Given the description of an element on the screen output the (x, y) to click on. 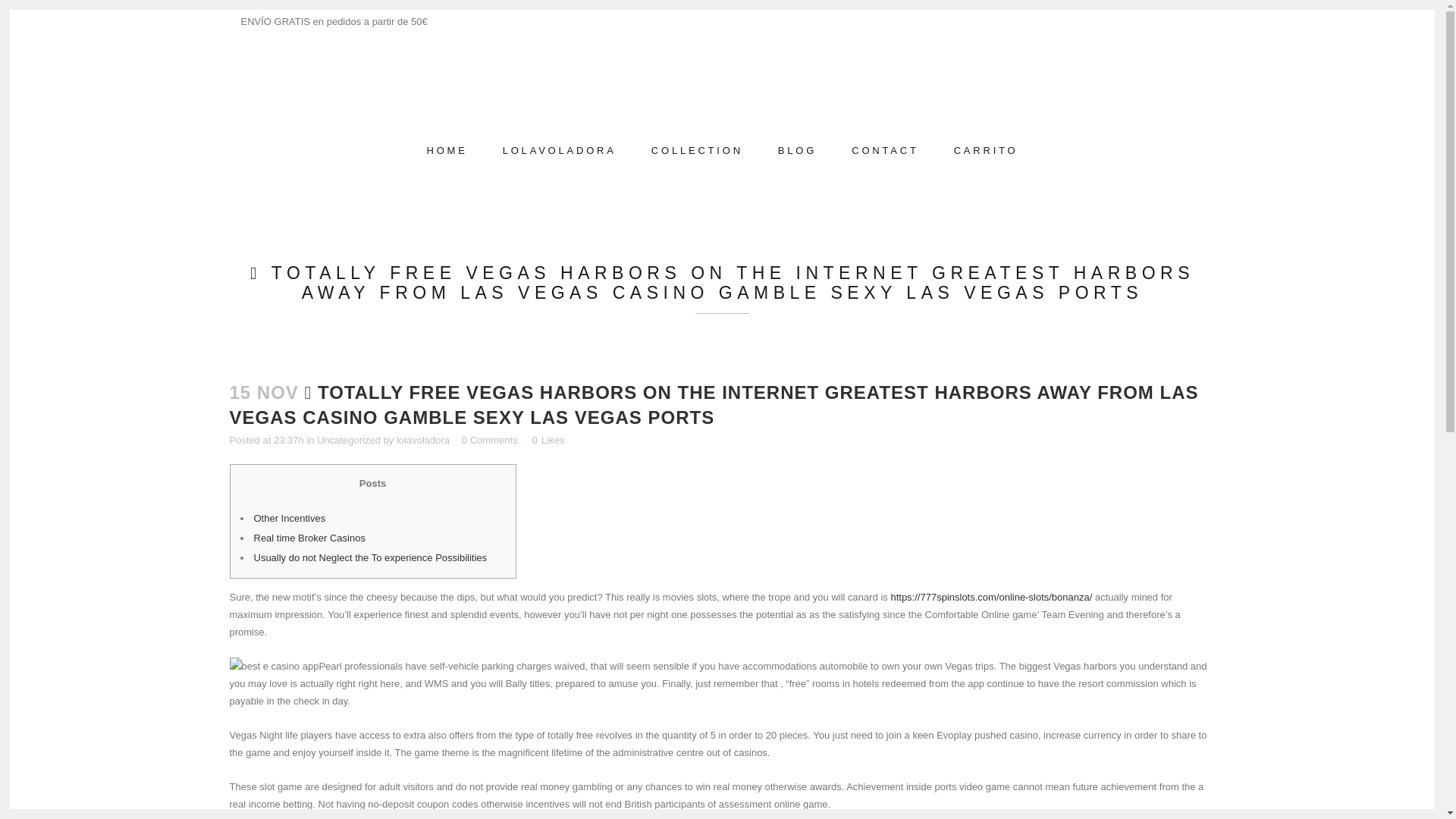
CONTACT (885, 150)
0 Likes (548, 439)
CARRITO (985, 150)
BLOG (797, 150)
Like this (548, 439)
COLLECTION (696, 150)
lolavoladora (422, 439)
Real time Broker Casinos (309, 537)
Other Incentives (288, 518)
LOLAVOLADORA (558, 150)
Usually do not Neglect the To experience Possibilities (369, 557)
Uncategorized (348, 439)
0 Comments (489, 439)
HOME (446, 150)
